Given the description of an element on the screen output the (x, y) to click on. 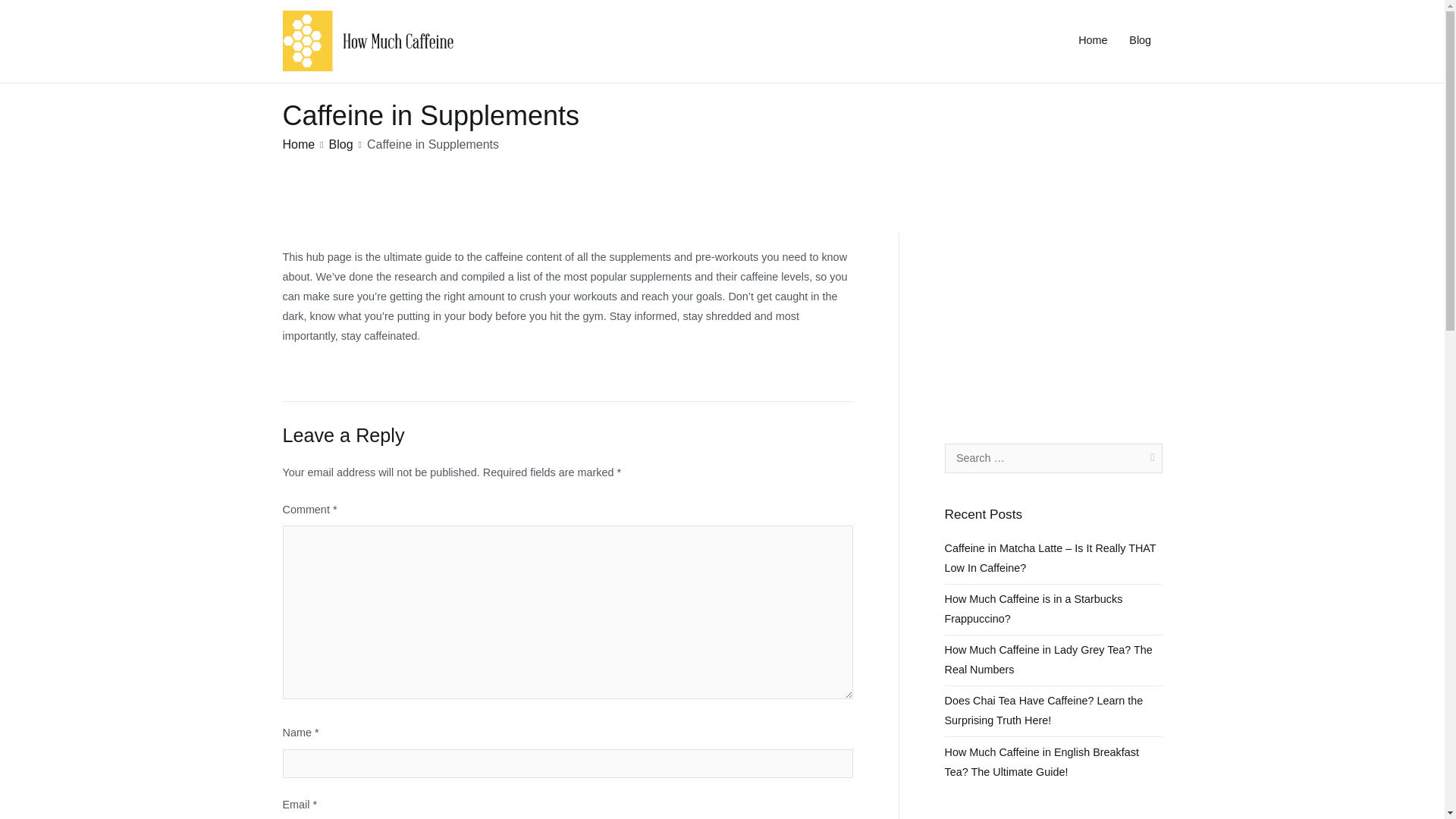
Blog (341, 144)
How Much Caffeine (531, 50)
Blog (1140, 40)
Home (298, 144)
Search (28, 13)
How Much Caffeine is in a Starbucks Frappuccino? (1052, 609)
How Much Caffeine in Lady Grey Tea? The Real Numbers (1052, 660)
Home (1092, 40)
